Given the description of an element on the screen output the (x, y) to click on. 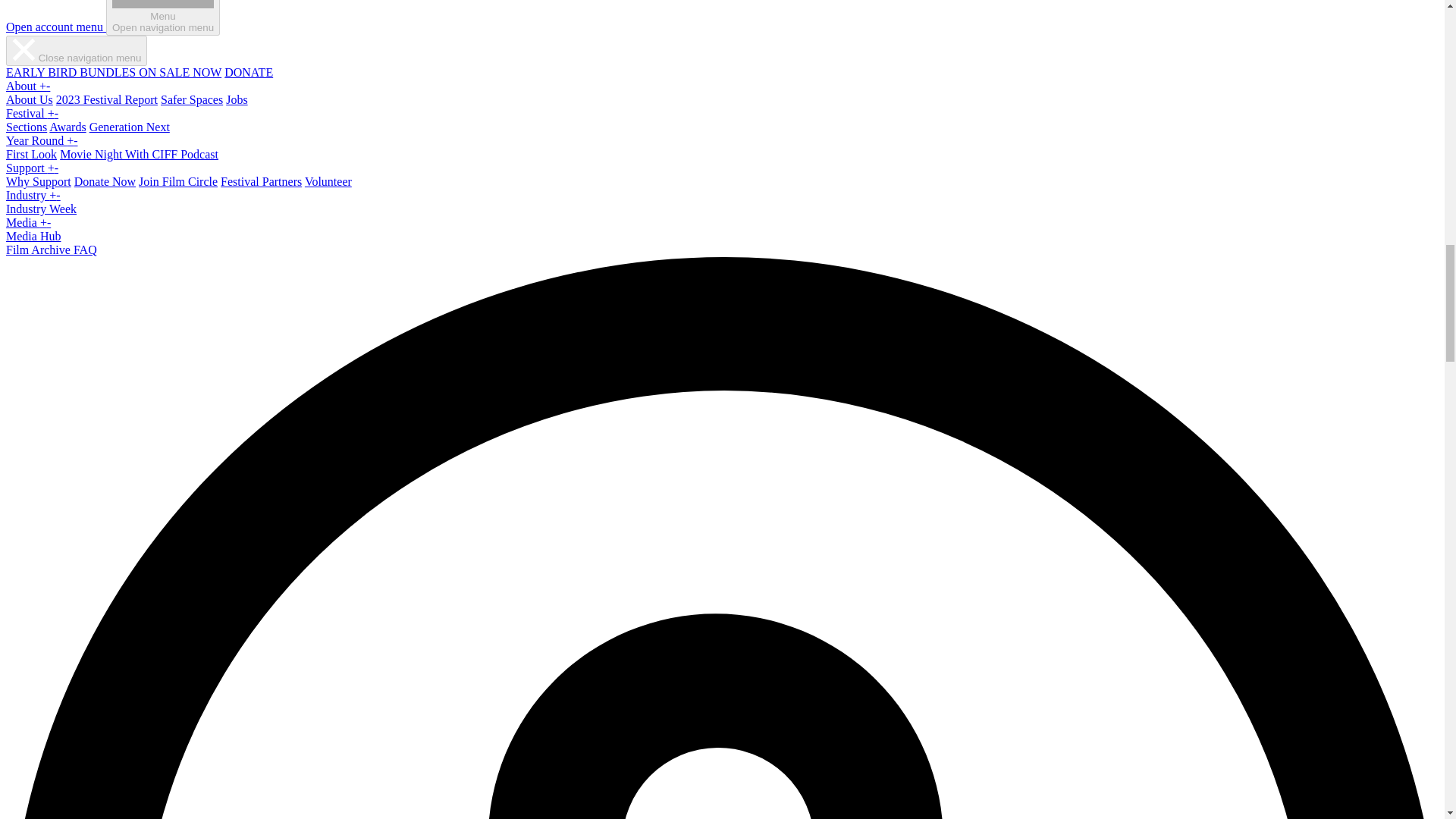
2023 Festival Report (106, 99)
Donate Now (104, 181)
First Look (30, 154)
FAQ (85, 249)
DONATE (248, 72)
Join Film Circle (177, 181)
Film Archive (39, 249)
Sections (25, 126)
Safer Spaces (162, 18)
Jobs (191, 99)
Close navigation menu (236, 99)
Festival Partners (76, 51)
Media Hub (261, 181)
Volunteer (33, 236)
